Given the description of an element on the screen output the (x, y) to click on. 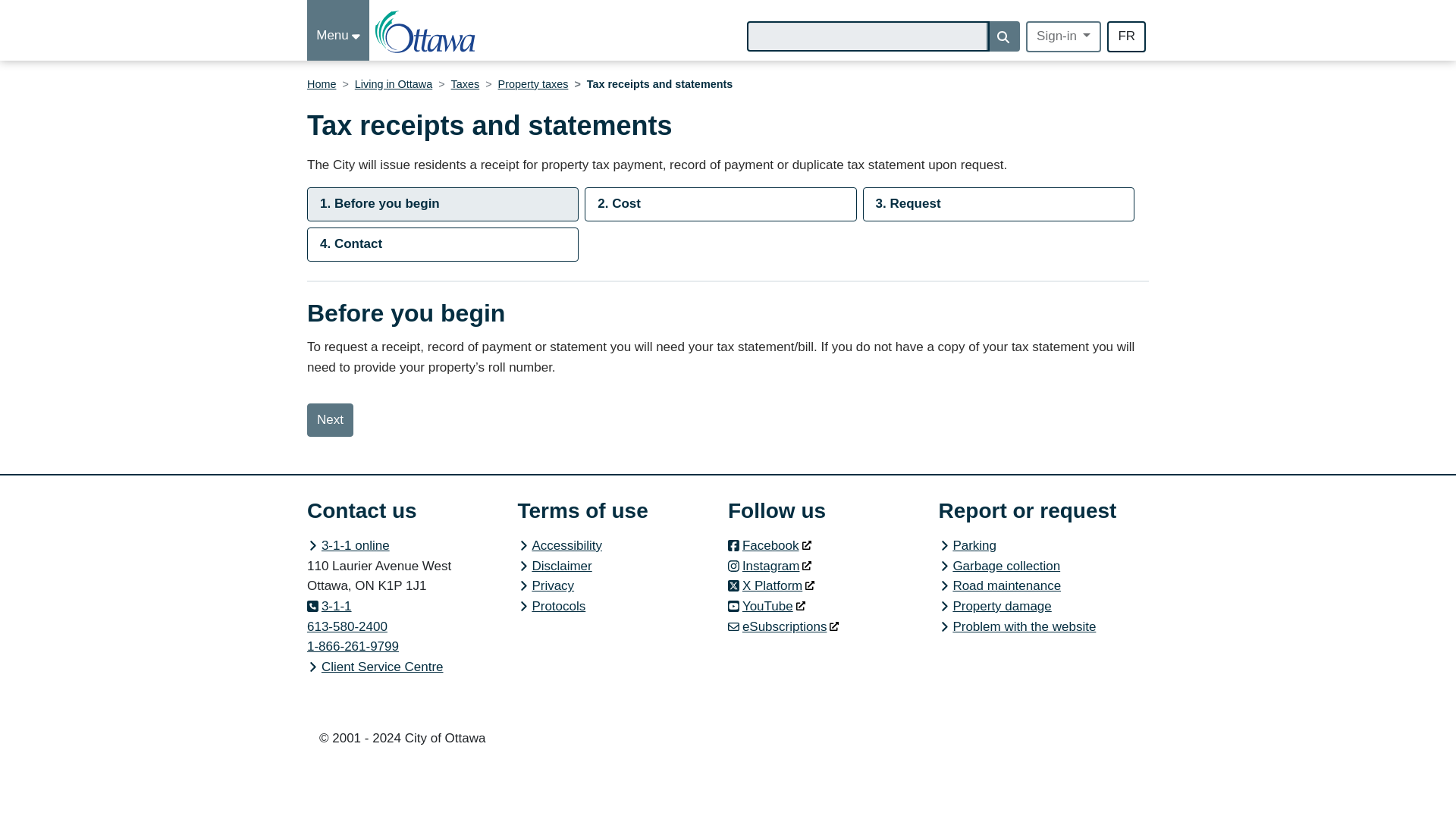
1-866-261-9799 (352, 646)
Home (321, 83)
3-1-1 (329, 605)
2. Cost (720, 204)
Taxes (465, 83)
Search (1003, 36)
4. Contact (442, 244)
3-1-1 online (348, 545)
Sign-in (1063, 36)
Skip to main content (309, 15)
Property taxes (533, 83)
City of Ottawa Home page (426, 32)
613-580-2400 (347, 626)
Menu (338, 30)
Next (330, 420)
